Given the description of an element on the screen output the (x, y) to click on. 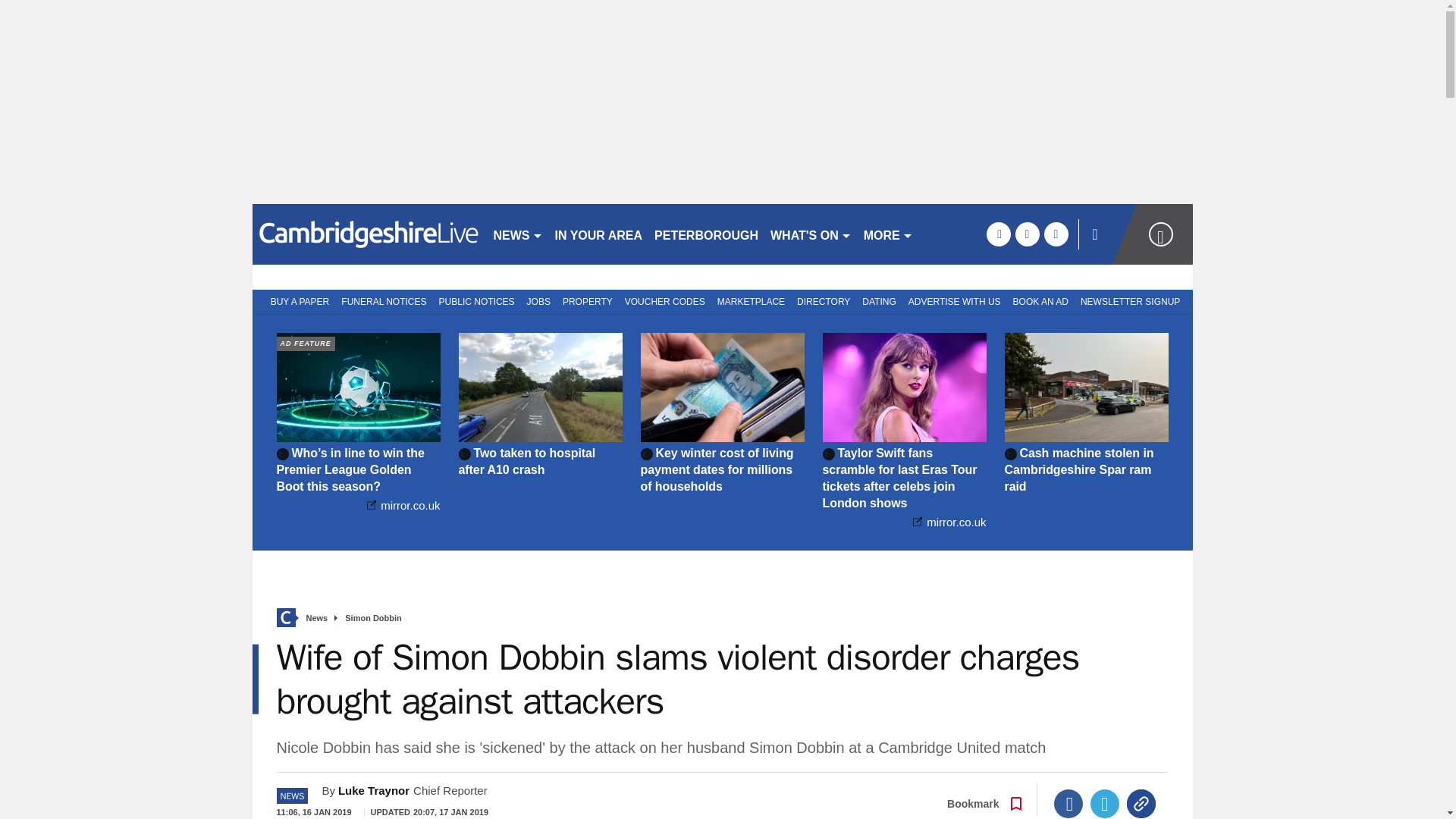
instagram (1055, 233)
PETERBOROUGH (705, 233)
cambridgenews (365, 233)
WHAT'S ON (810, 233)
NEWS (517, 233)
IN YOUR AREA (598, 233)
facebook (997, 233)
Twitter (1104, 803)
twitter (1026, 233)
MORE (887, 233)
